Given the description of an element on the screen output the (x, y) to click on. 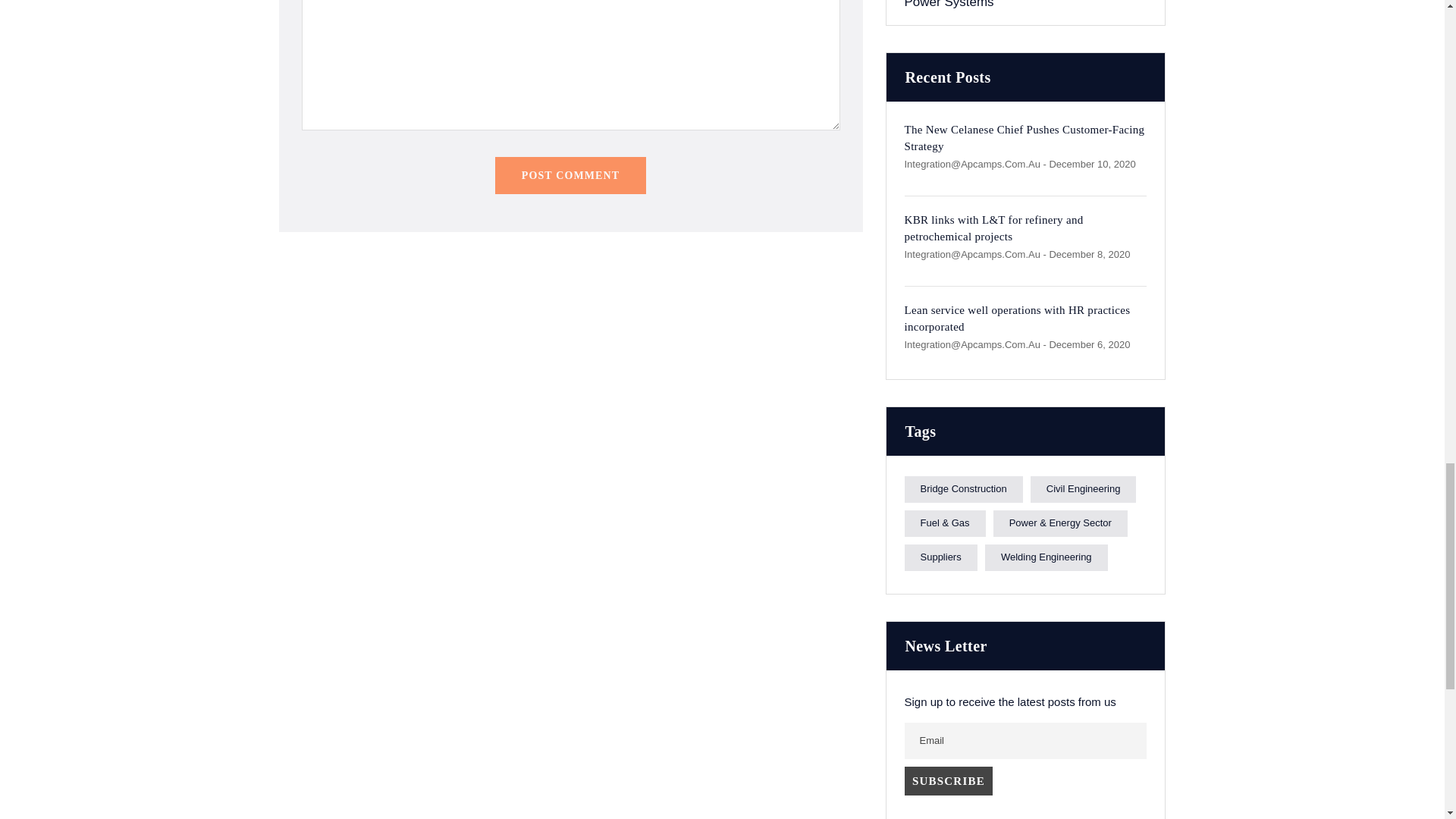
Subscribe (948, 780)
The New Celanese Chief Pushes Customer-Facing Strategy (1024, 137)
Lean service well operations with HR practices incorporated (1016, 317)
POST COMMENT (570, 175)
